Given the description of an element on the screen output the (x, y) to click on. 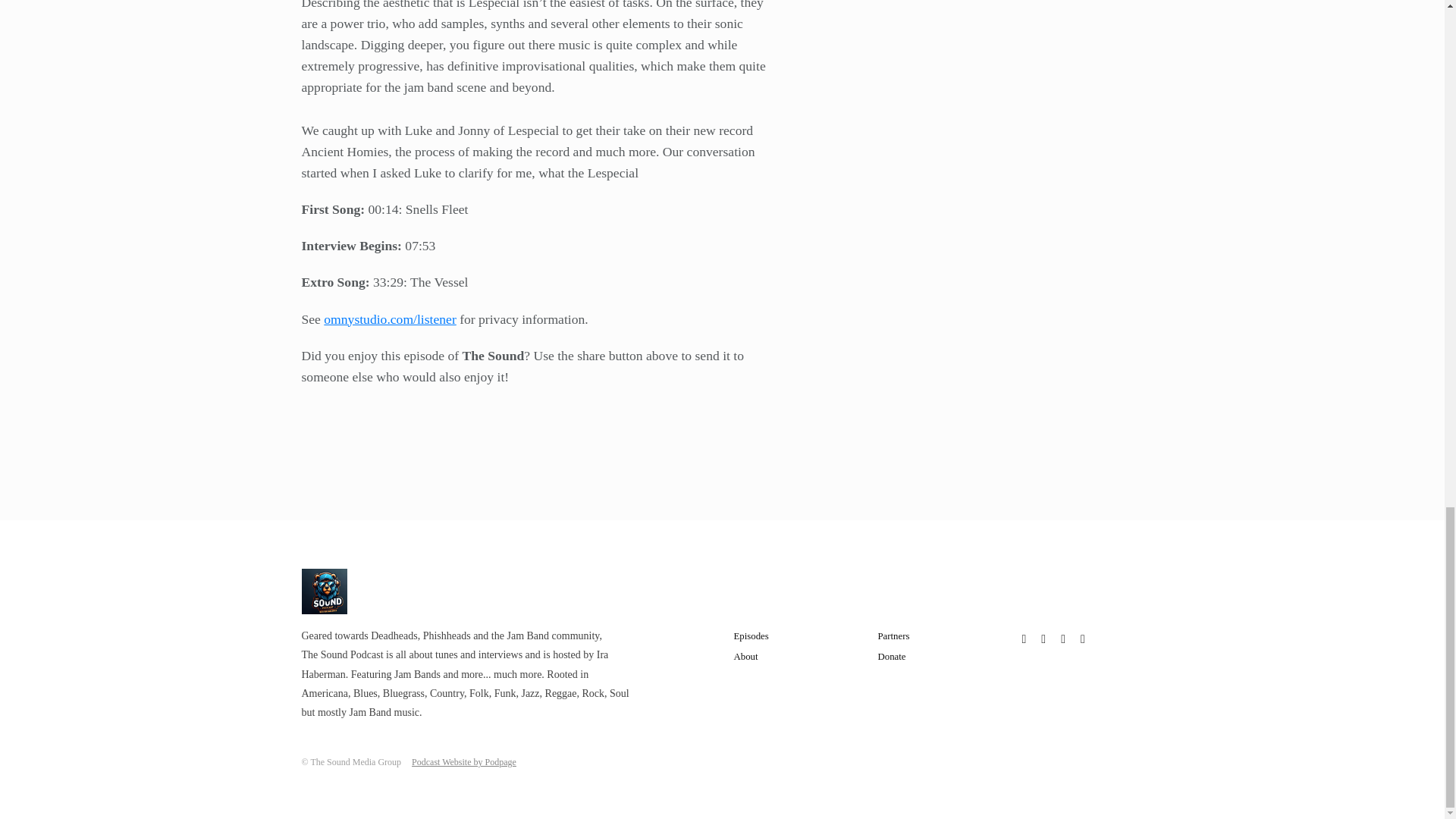
Link to YouTube (1082, 638)
The Sound Podcast Logo (324, 591)
Link to x-twitter (1063, 638)
Link to Facebook (1024, 638)
Link to Instagram (1043, 638)
